Given the description of an element on the screen output the (x, y) to click on. 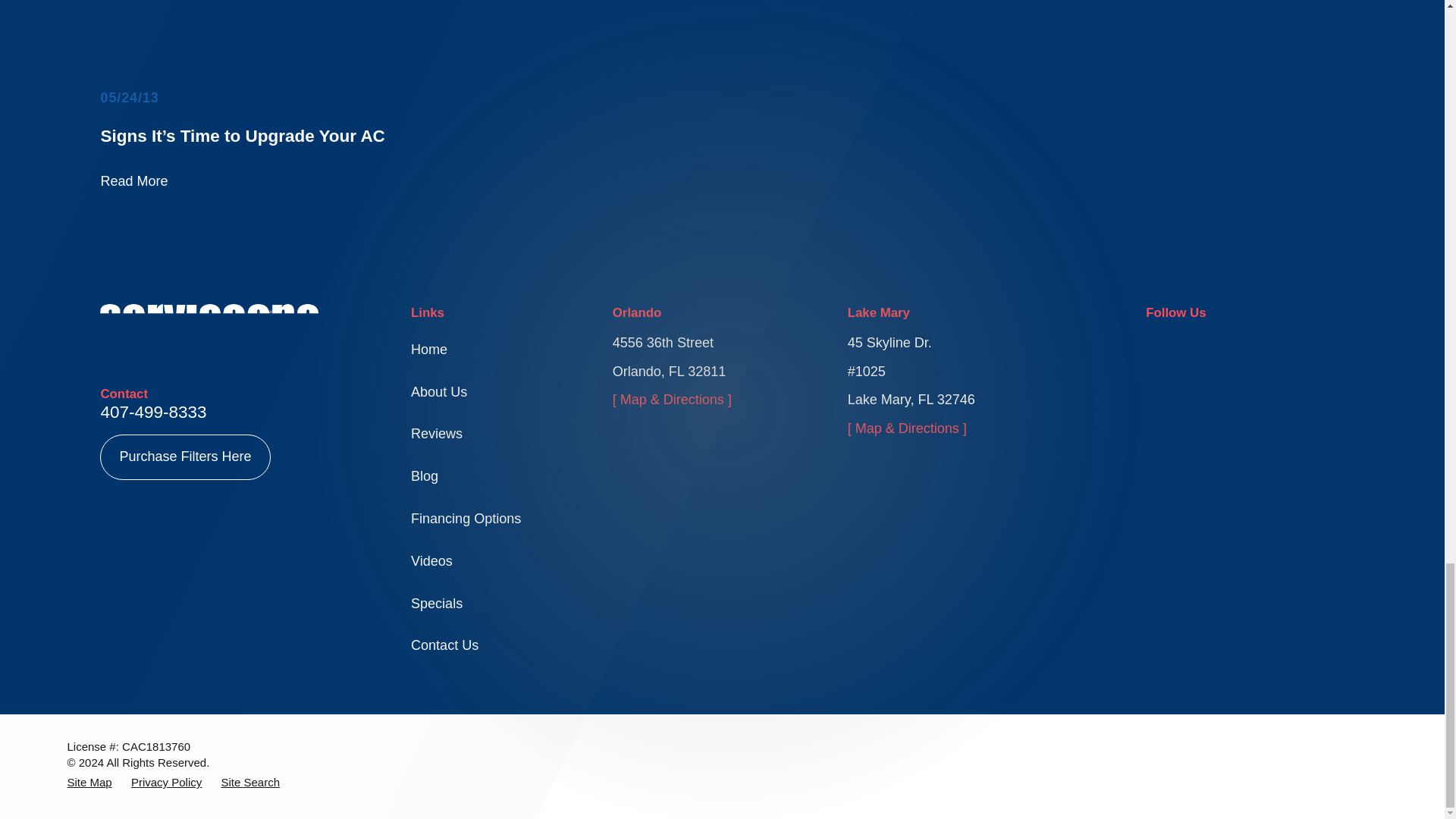
Home (209, 327)
